Given the description of an element on the screen output the (x, y) to click on. 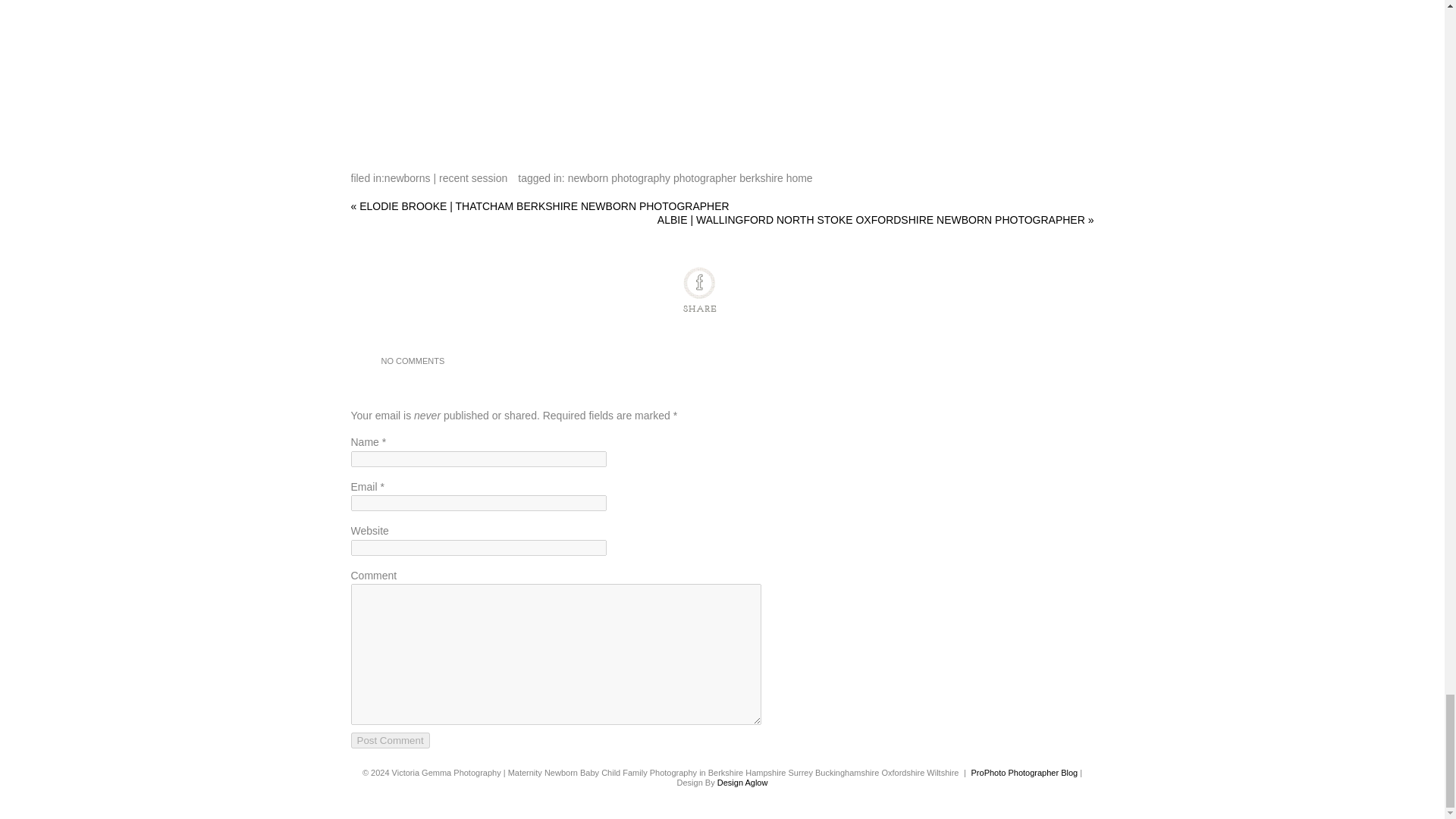
newborn photography photographer berkshire home (689, 177)
ProPhoto4 (1024, 772)
Post Comment (389, 740)
Design Aglow (742, 782)
NO COMMENTS (412, 360)
recent session (472, 177)
Post Comment (389, 740)
ProPhoto Photographer Blog (1024, 772)
newborns (407, 177)
